Given the description of an element on the screen output the (x, y) to click on. 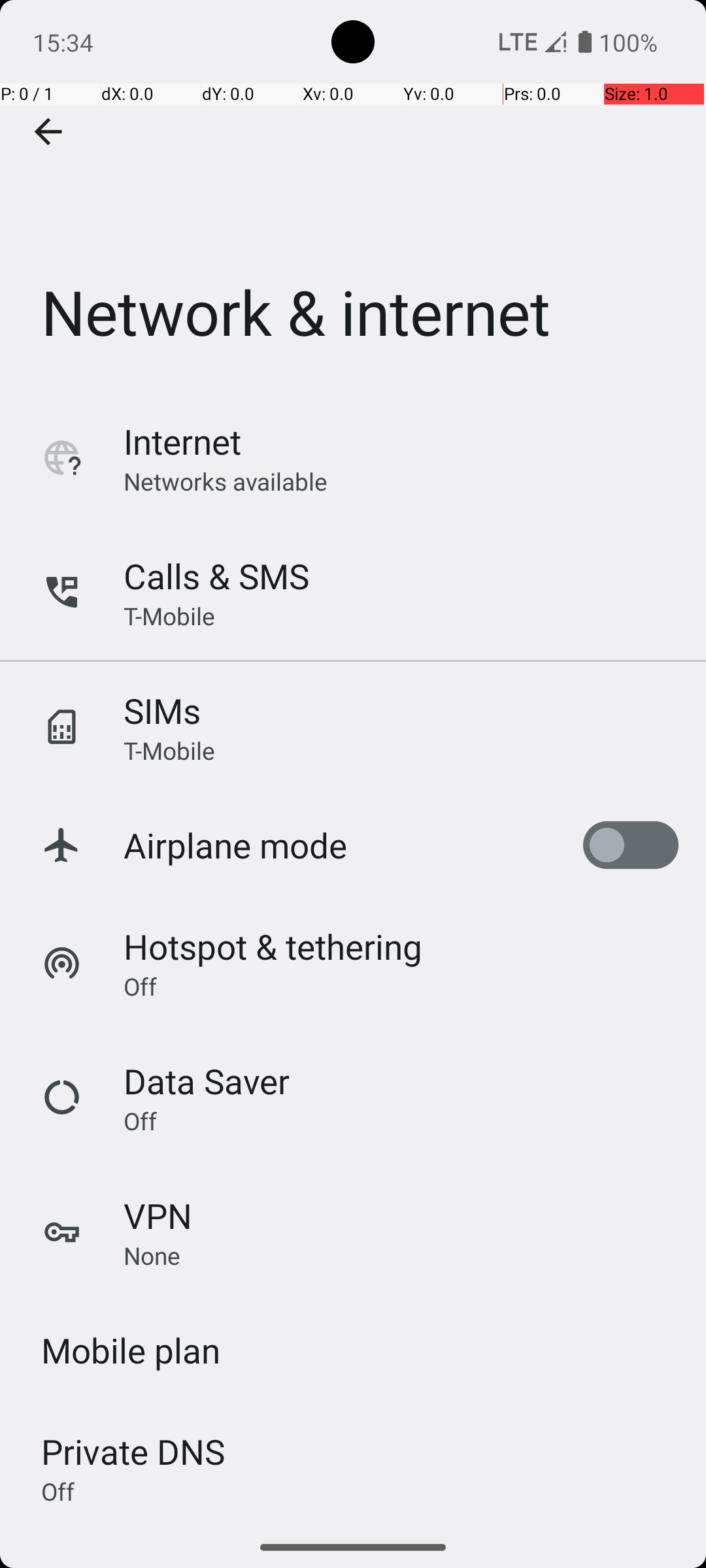
Internet Element type: android.widget.TextView (182, 441)
Networks available Element type: android.widget.TextView (225, 480)
Calls & SMS Element type: android.widget.TextView (216, 575)
SIMs Element type: android.widget.TextView (161, 710)
Airplane mode Element type: android.widget.TextView (235, 844)
Hotspot & tethering Element type: android.widget.TextView (272, 946)
VPN Element type: android.widget.TextView (157, 1215)
Mobile plan Element type: android.widget.TextView (130, 1349)
Private DNS Element type: android.widget.TextView (132, 1451)
